Given the description of an element on the screen output the (x, y) to click on. 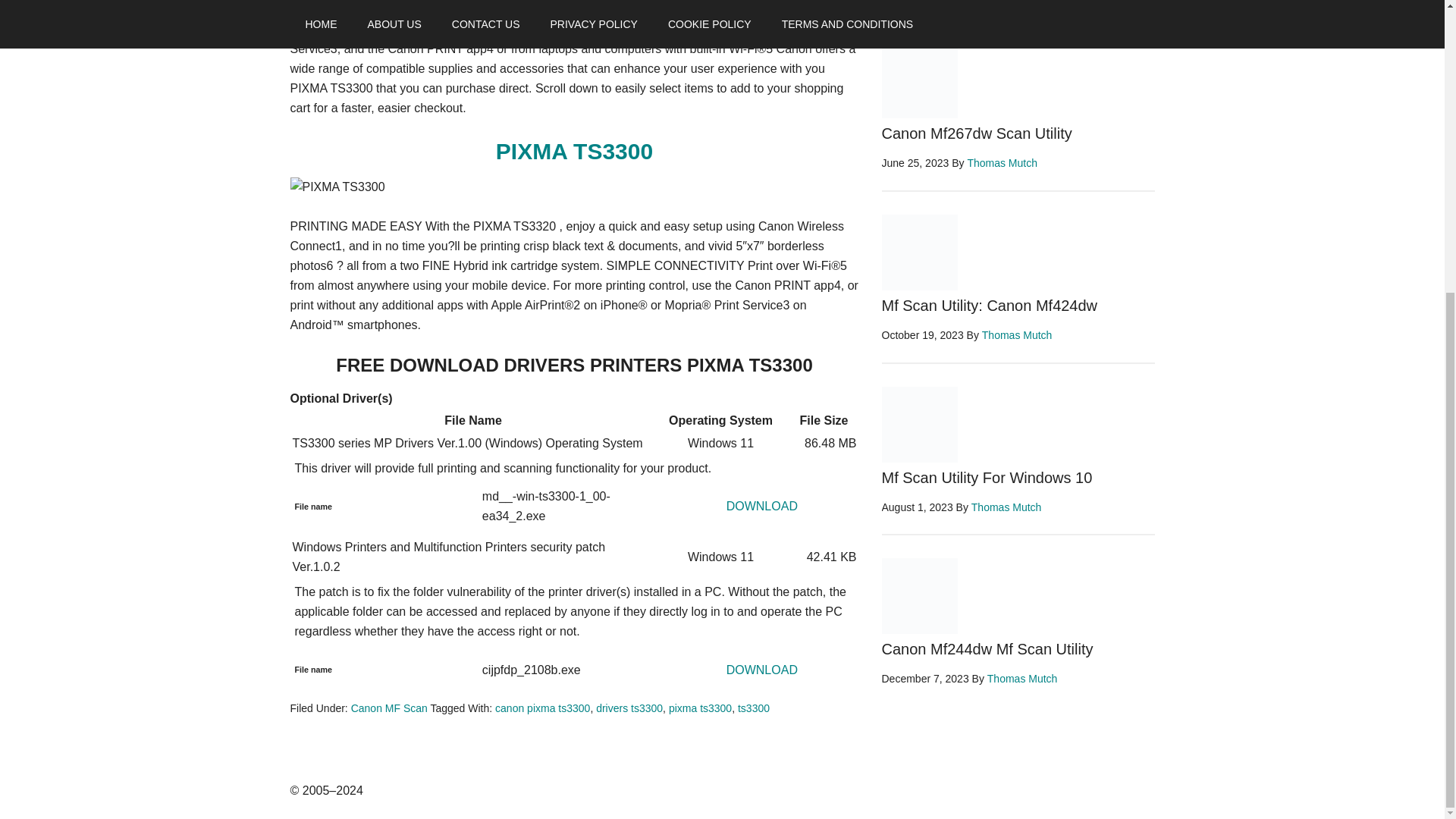
Thomas Mutch (1001, 162)
PIXMA TS3300 (574, 150)
canon pixma ts3300 (542, 707)
Canon Mf267dw Scan Utility (975, 133)
DOWNLOAD (761, 669)
Mf Scan Utility For Windows 10 (986, 477)
Canon MF Scan (389, 707)
Mf Scan Utility: Canon Mf424dw (988, 305)
pixma ts3300 (700, 707)
DOWNLOAD (761, 505)
